Given the description of an element on the screen output the (x, y) to click on. 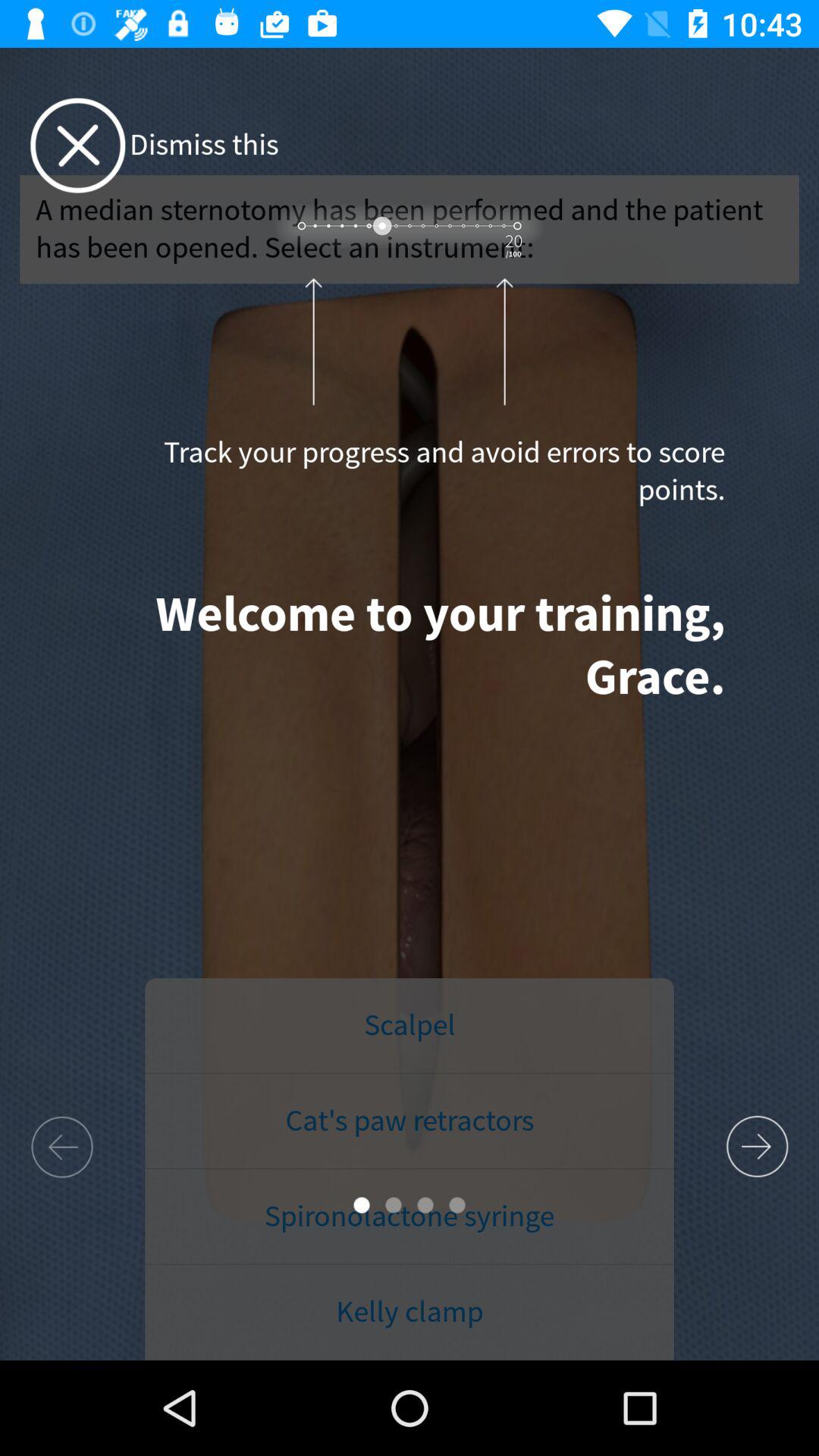
choose the scalpel (409, 1025)
